Given the description of an element on the screen output the (x, y) to click on. 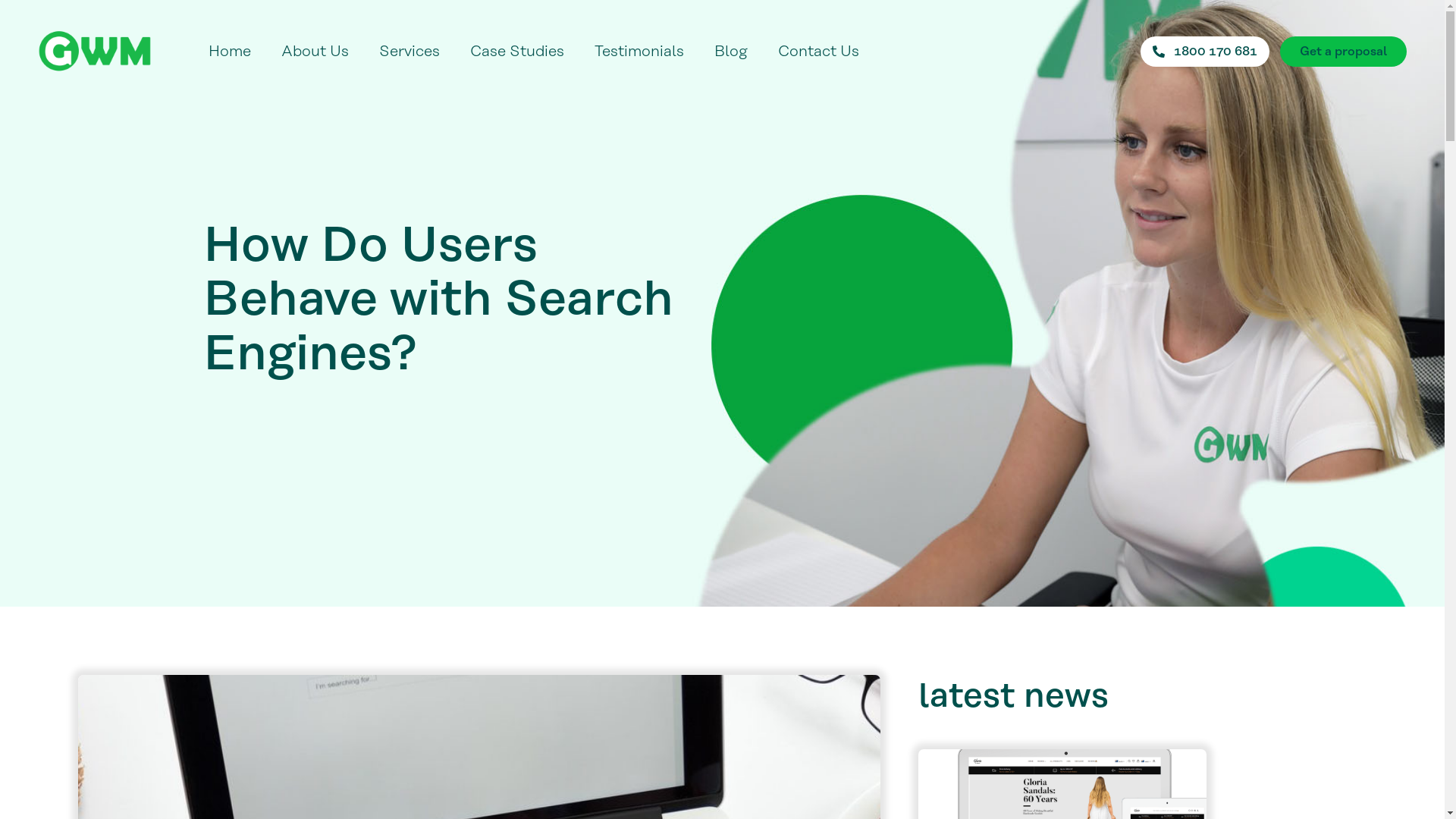
Get a proposal Element type: text (1343, 51)
Blog Element type: text (730, 50)
Case Studies Element type: text (517, 50)
Home Element type: text (229, 50)
Services Element type: text (409, 50)
Contact Us Element type: text (818, 50)
Testimonials Element type: text (639, 50)
1800 170 681 Element type: text (1204, 51)
About Us Element type: text (314, 50)
